Given the description of an element on the screen output the (x, y) to click on. 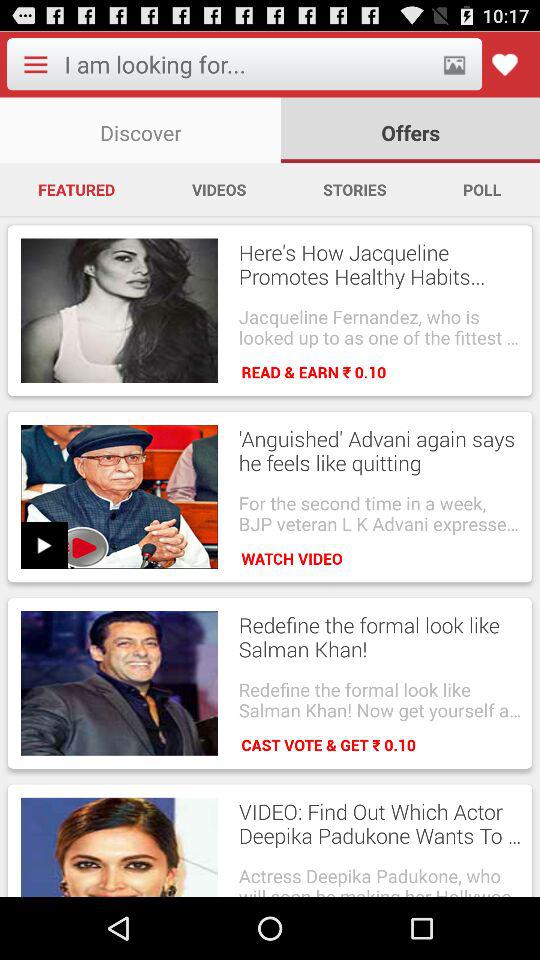
turn off the app above discover item (246, 64)
